Given the description of an element on the screen output the (x, y) to click on. 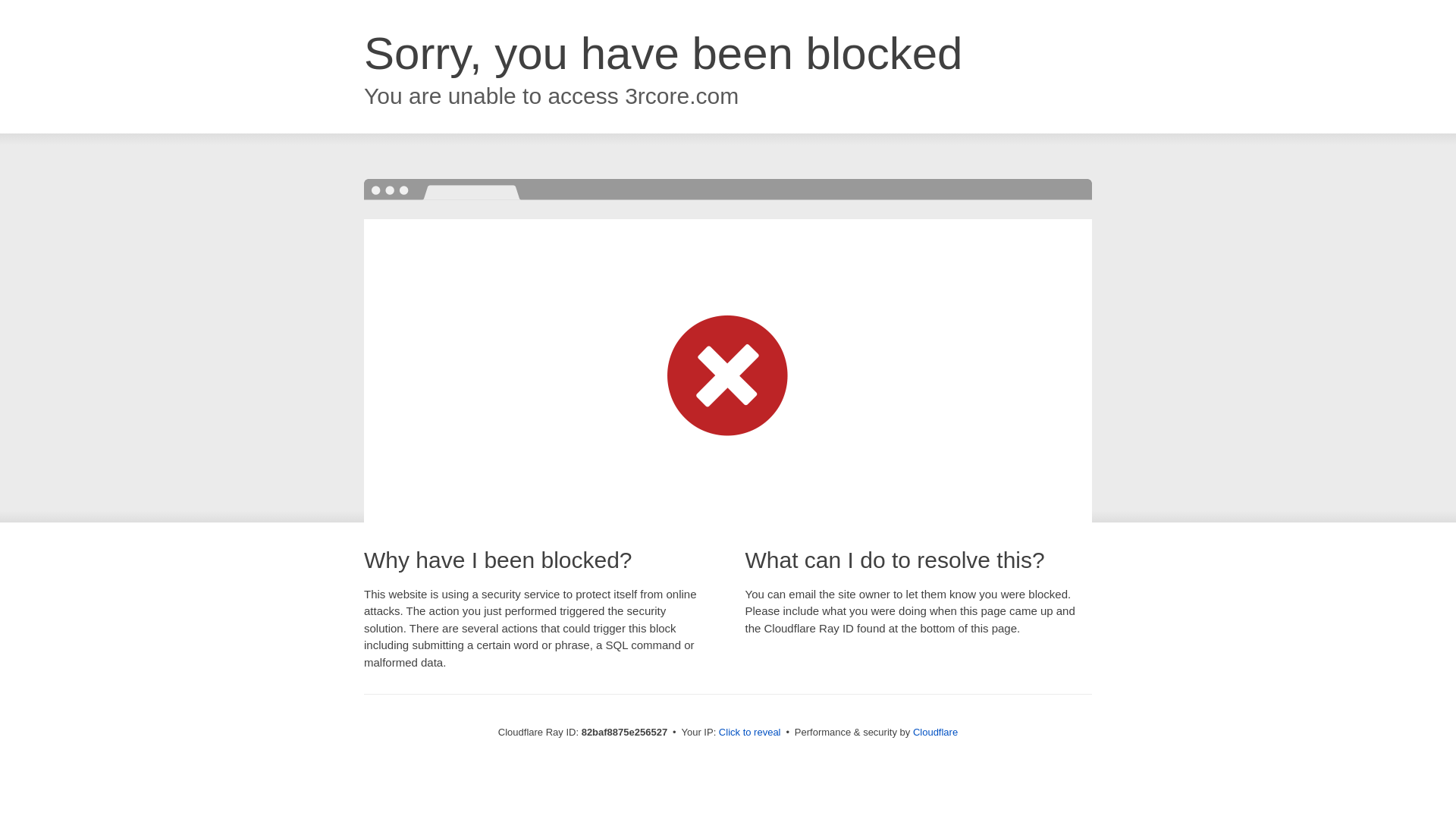
Cloudflare Element type: text (935, 731)
Click to reveal Element type: text (749, 732)
